Given the description of an element on the screen output the (x, y) to click on. 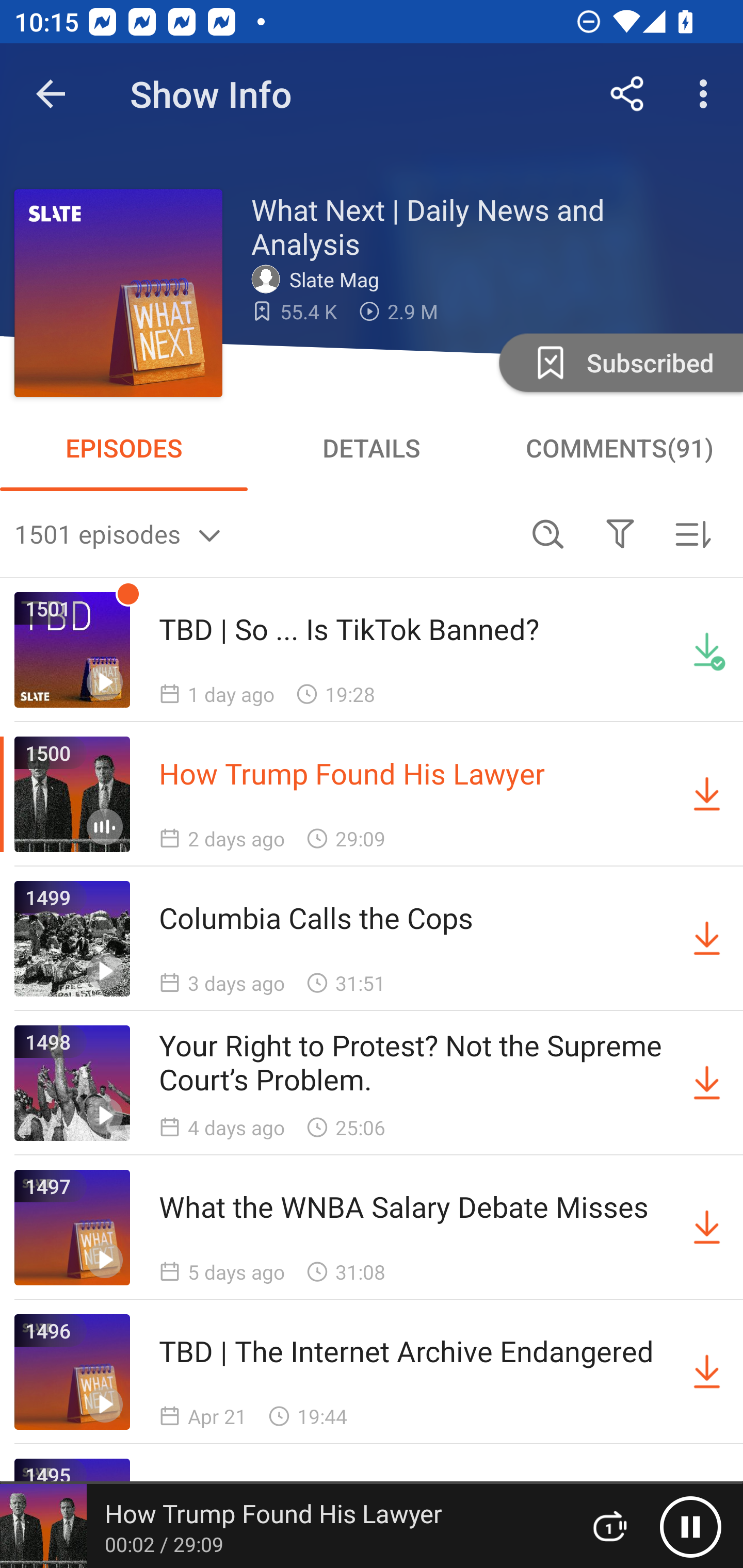
Navigate up (50, 93)
Share (626, 93)
More options (706, 93)
Slate Mag (319, 278)
Unsubscribe Subscribed (619, 361)
EPISODES (123, 447)
DETAILS (371, 447)
COMMENTS(91) (619, 447)
1501 episodes  (262, 533)
 Search (547, 533)
 (619, 533)
 Sorted by newest first (692, 533)
Downloaded (706, 649)
Download (706, 793)
Download (706, 939)
Download (706, 1083)
Download (706, 1227)
Download (706, 1371)
How Trump Found His Lawyer 00:02 / 29:09 (283, 1525)
Pause (690, 1526)
